Given the description of an element on the screen output the (x, y) to click on. 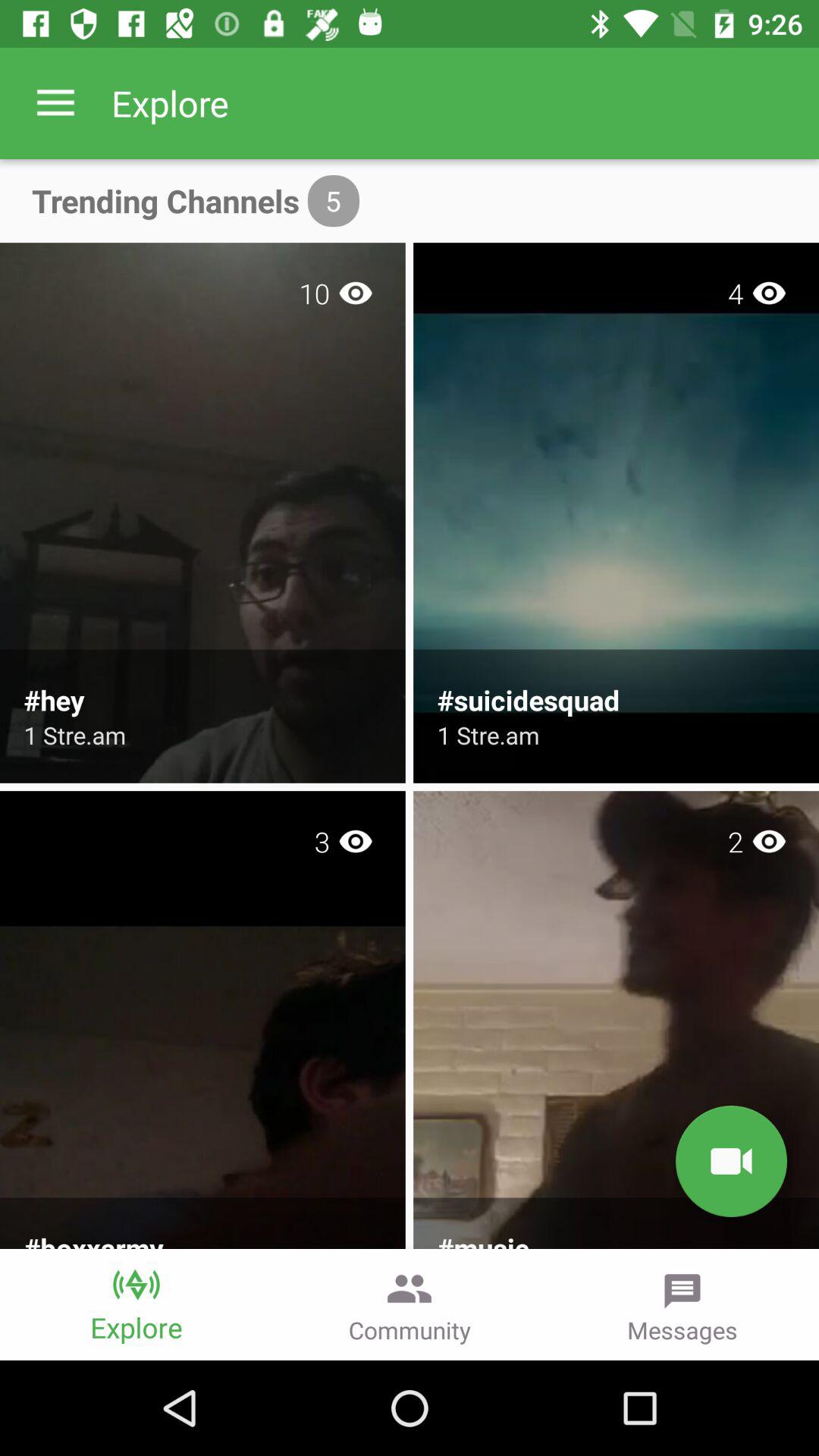
select the second image of views (769, 841)
